Given the description of an element on the screen output the (x, y) to click on. 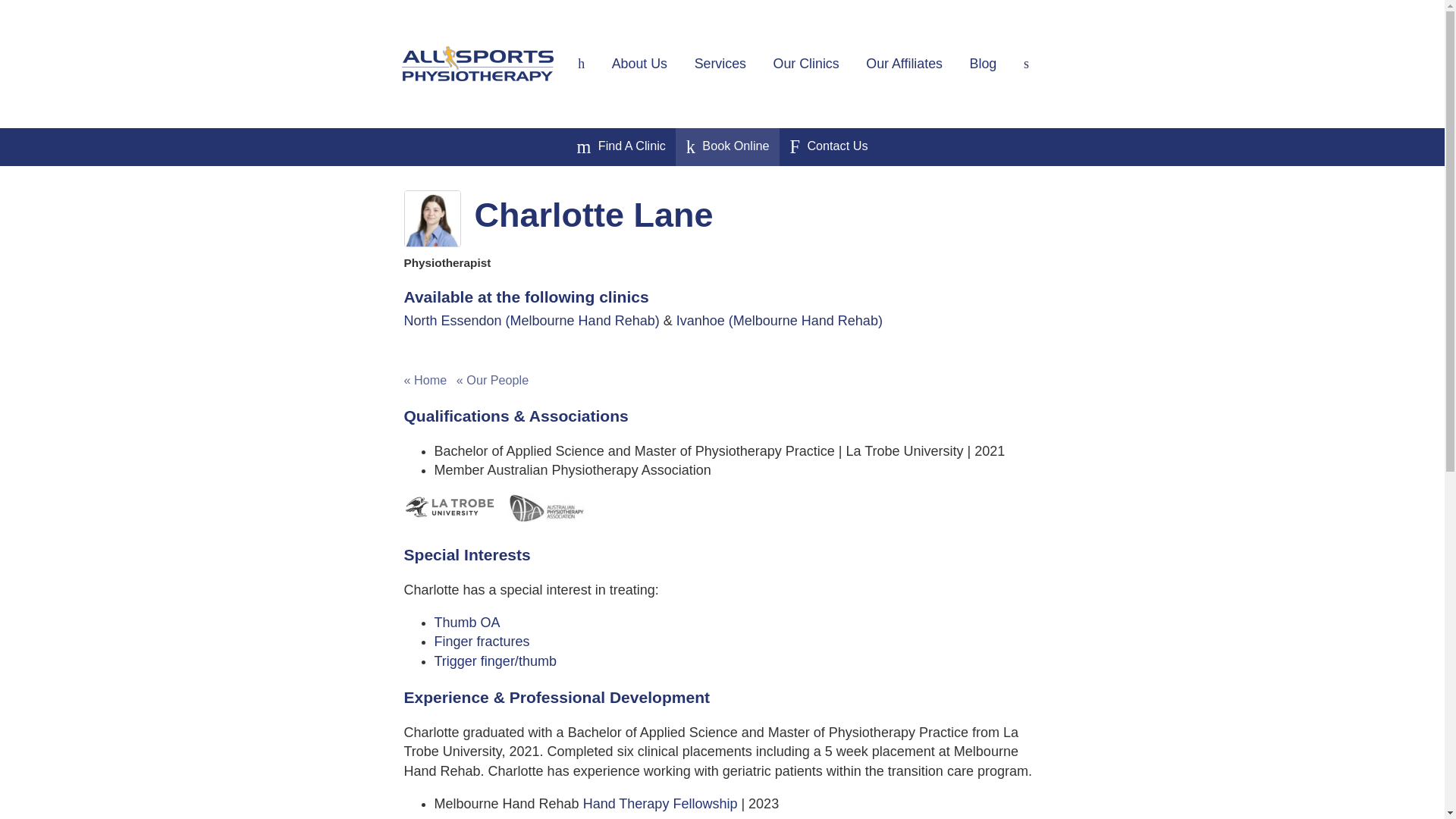
About Us (639, 63)
Home (581, 63)
h (581, 63)
Contact Us (828, 146)
Charlotte Lane - Physiotherapist (431, 218)
APA-g (545, 507)
Book Online (727, 146)
Services (720, 63)
Find A Clinic (620, 146)
